Given the description of an element on the screen output the (x, y) to click on. 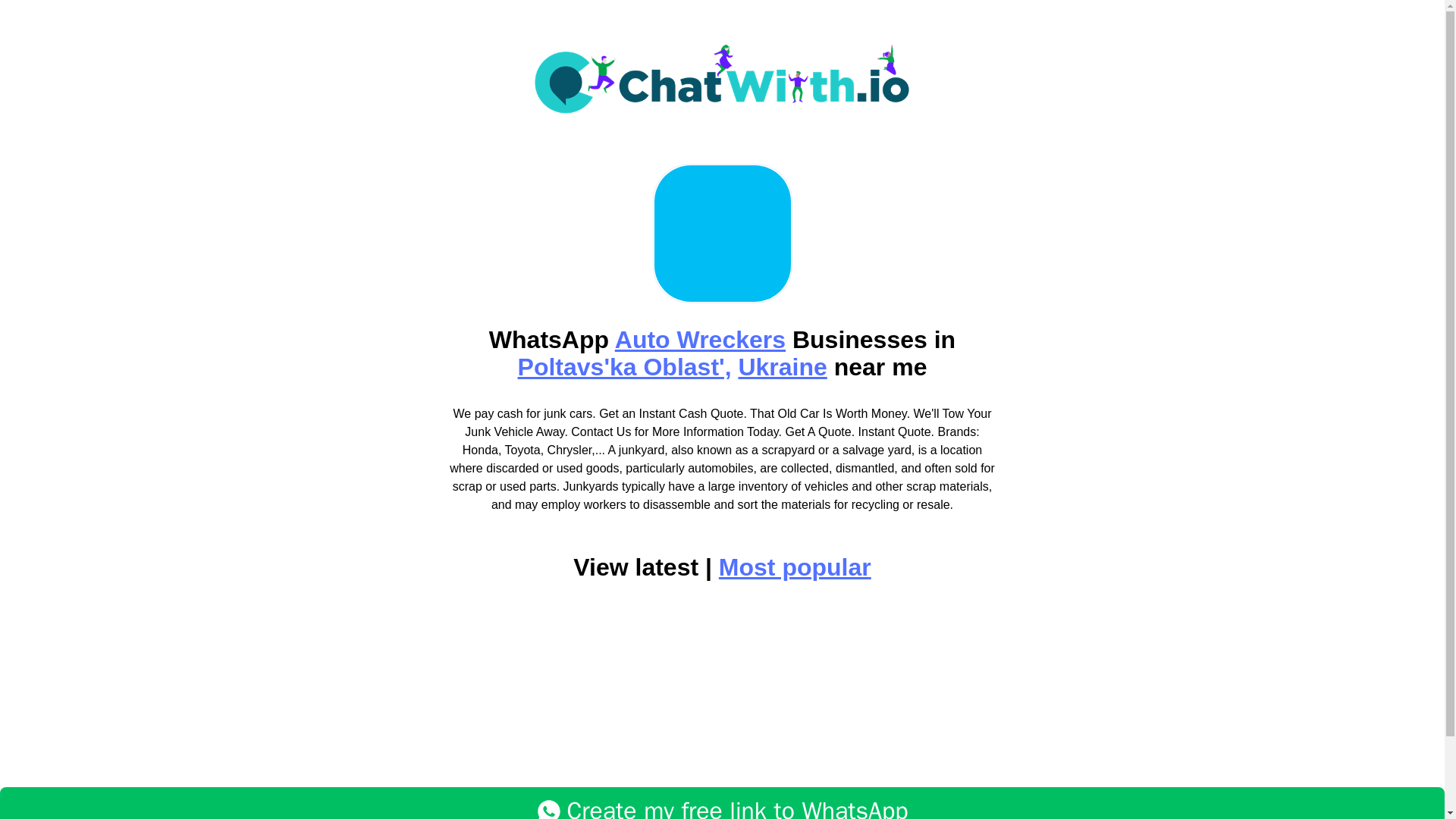
Poltavs'ka Oblast', (625, 366)
Auto Wreckers (700, 338)
Most popular (794, 566)
Ukraine (782, 366)
